Given the description of an element on the screen output the (x, y) to click on. 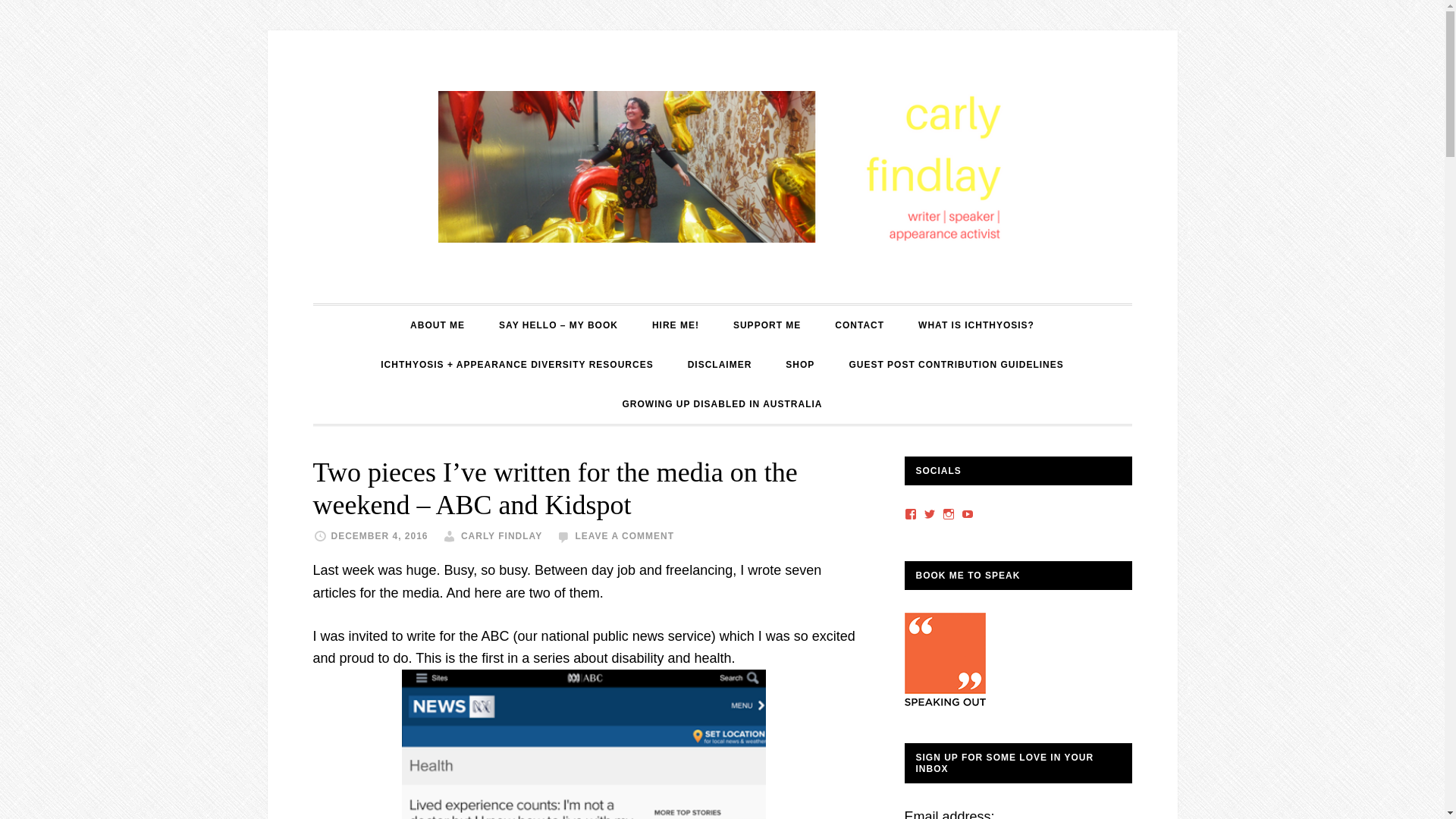
SHOP (799, 364)
GUEST POST CONTRIBUTION GUIDELINES (955, 364)
WHAT IS ICHTHYOSIS? (975, 324)
HIRE ME! (675, 324)
CARLY FINDLAY (721, 166)
CARLY FINDLAY (501, 535)
SUPPORT ME (766, 324)
DISCLAIMER (719, 364)
LEAVE A COMMENT (624, 535)
GROWING UP DISABLED IN AUSTRALIA (722, 404)
ABOUT ME (437, 324)
CONTACT (859, 324)
